Given the description of an element on the screen output the (x, y) to click on. 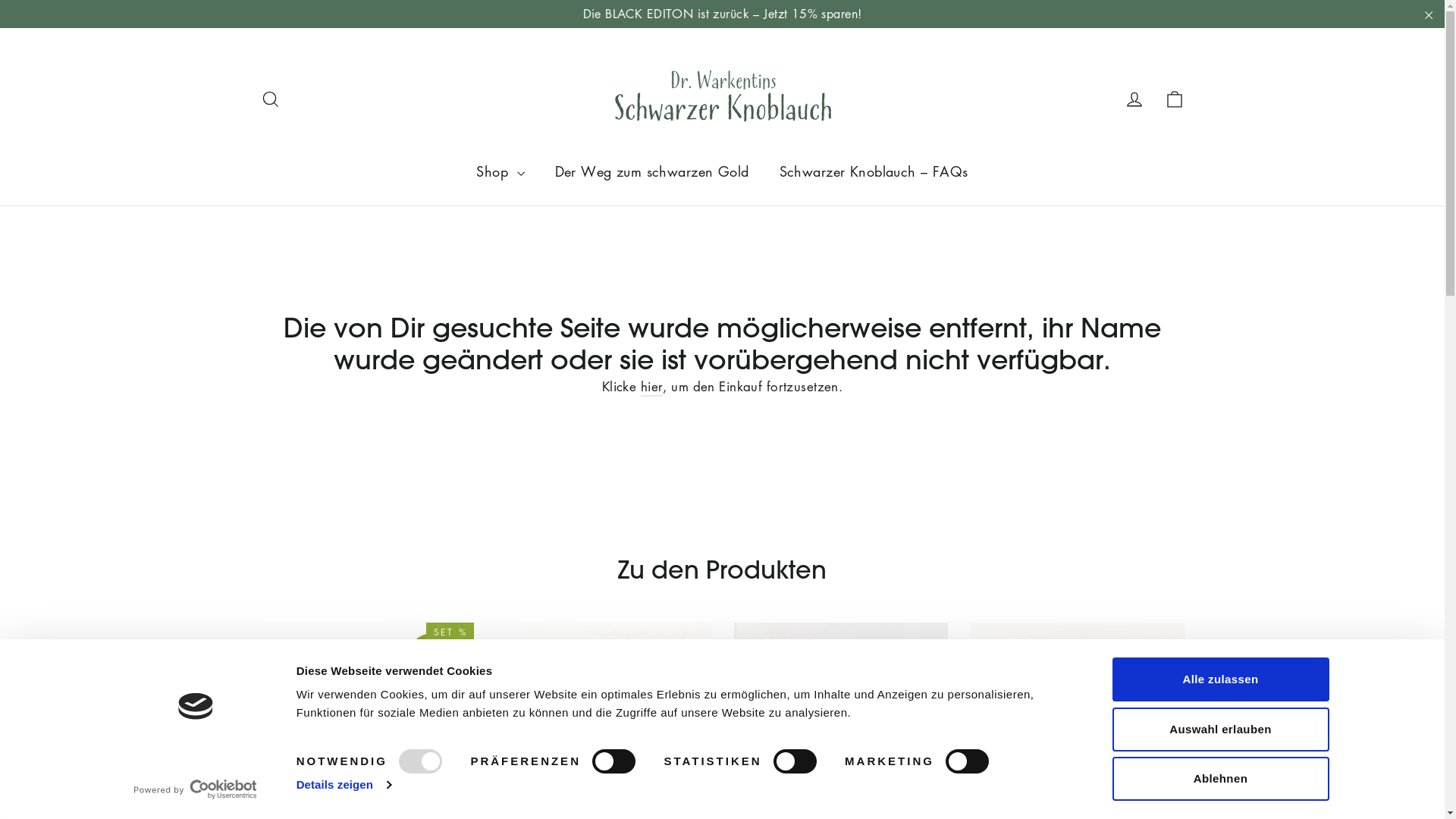
Alle zulassen Element type: text (1219, 679)
Warenkorb Element type: text (1173, 97)
Account/Einloggen Element type: text (1134, 97)
Auswahl erlauben Element type: text (1219, 728)
hier Element type: text (651, 386)
Details zeigen Element type: text (343, 784)
Direkt zum Inhalt Element type: text (0, 0)
Der Weg zum schwarzen Gold Element type: text (651, 171)
Ablehnen Element type: text (1219, 778)
Shop Element type: text (500, 171)
Suche Element type: text (269, 97)
